Given the description of an element on the screen output the (x, y) to click on. 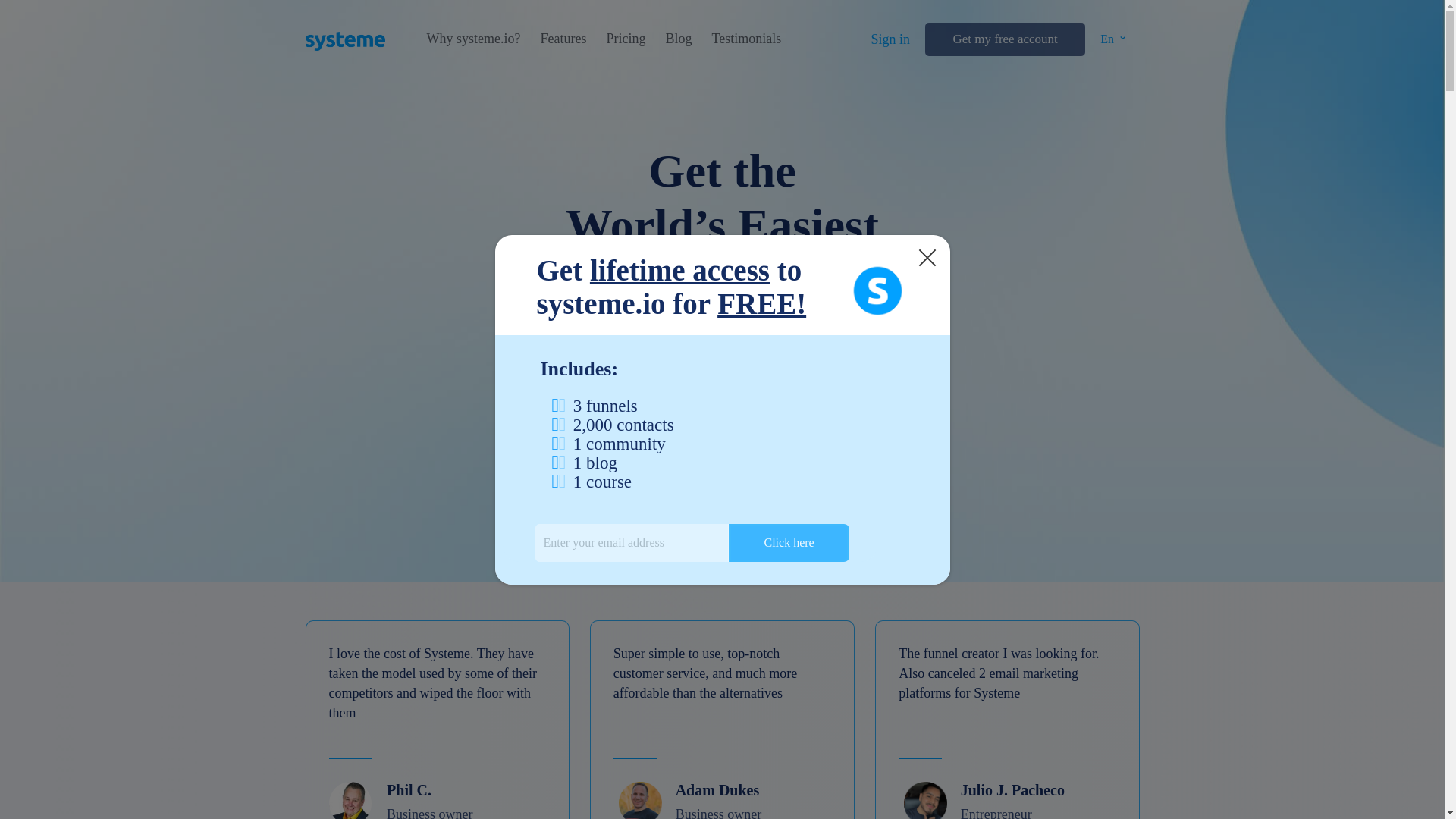
Features (563, 38)
Testimonials (745, 38)
Blog (678, 38)
Pricing (625, 38)
Why systeme.io? (472, 38)
Sign in (890, 39)
Get my free account (1004, 39)
